Given the description of an element on the screen output the (x, y) to click on. 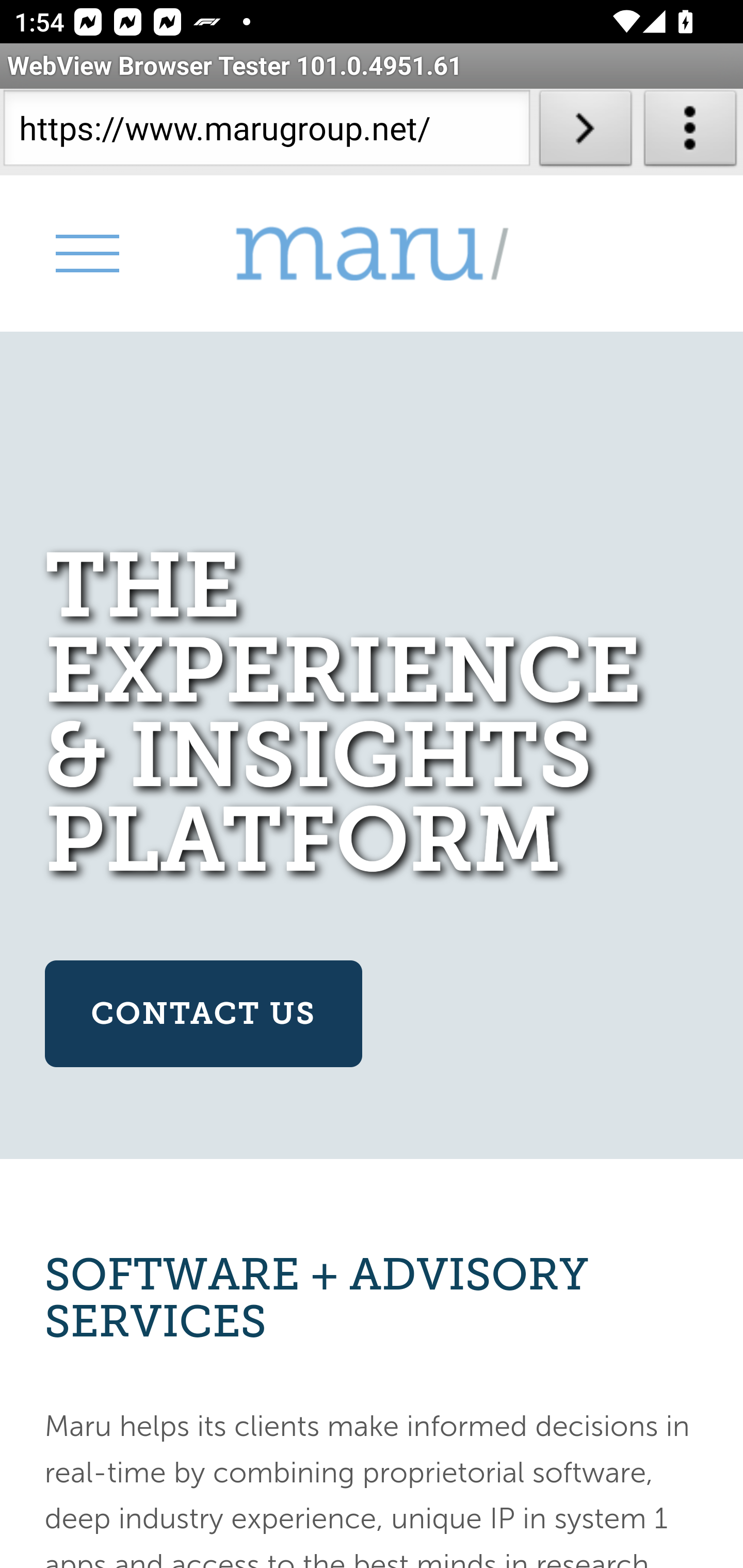
https://www.marugroup.net/ (266, 132)
Load URL (585, 132)
About WebView (690, 132)
Open Menu (86, 252)
Maru Group (371, 253)
CONTACT US (202, 1014)
